Given the description of an element on the screen output the (x, y) to click on. 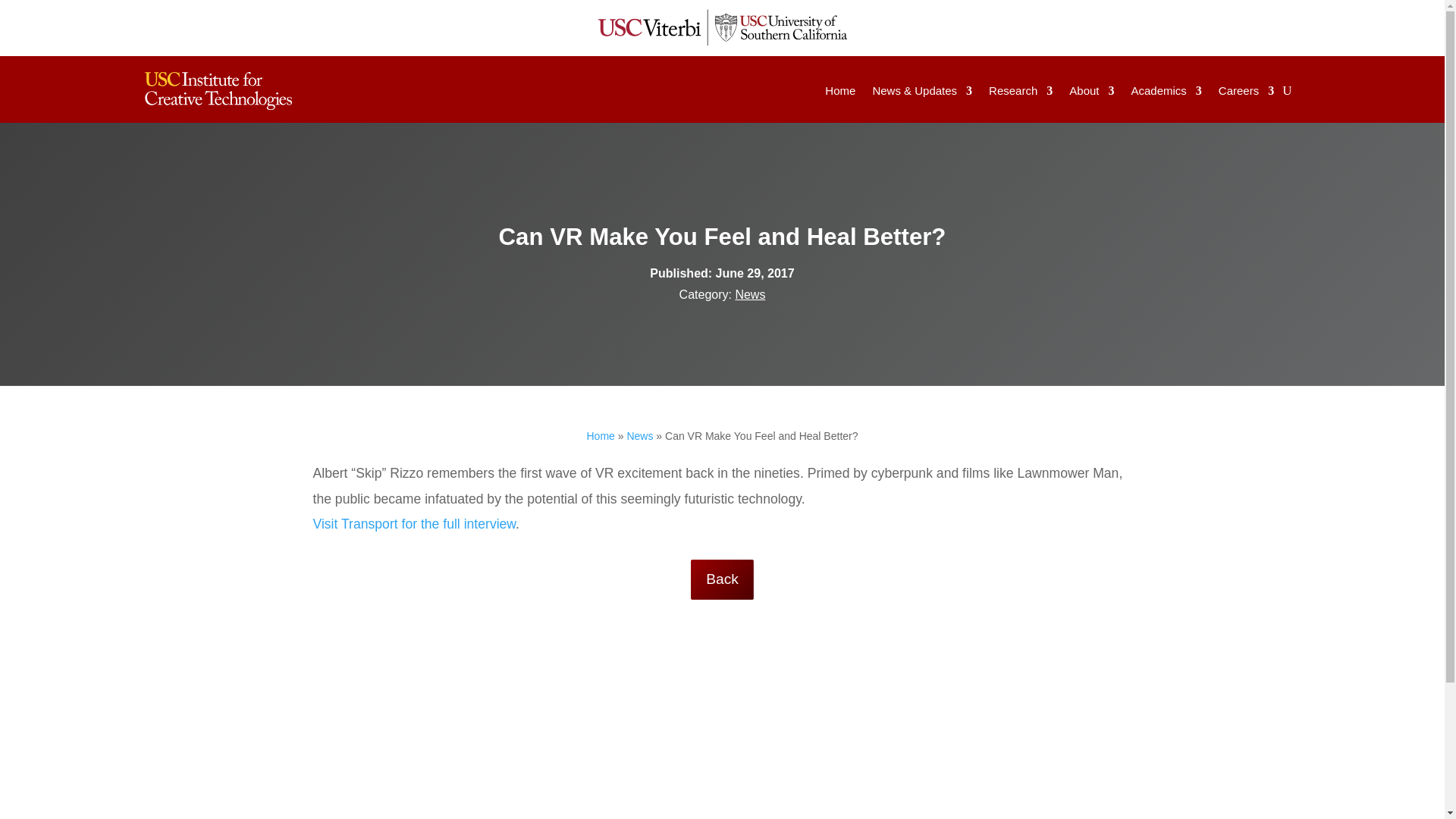
Research (1020, 90)
Careers (1246, 90)
Academics (1166, 90)
USC Viterbi Shield Logo (722, 27)
